Given the description of an element on the screen output the (x, y) to click on. 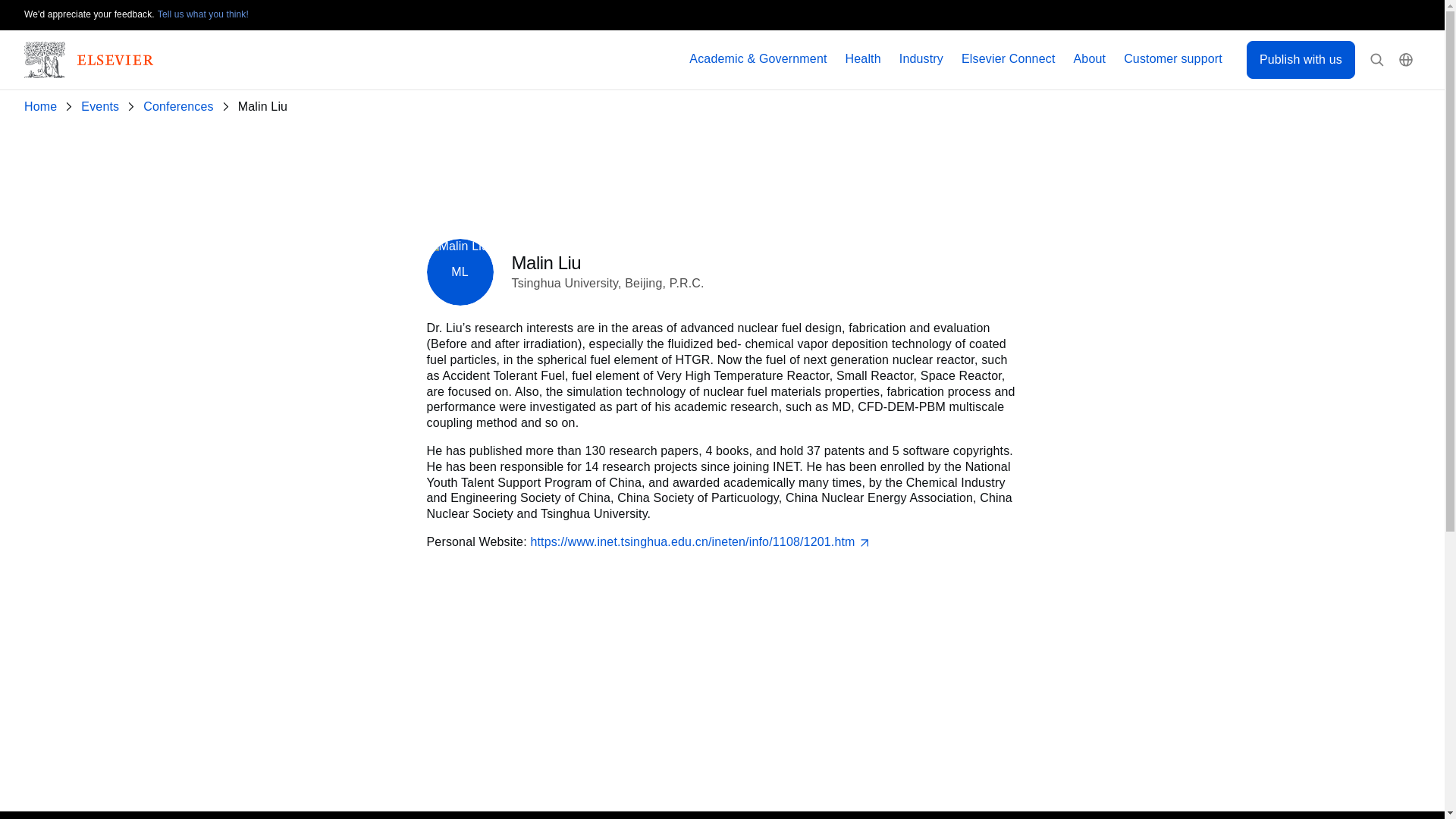
About (1090, 59)
Elsevier Connect (1007, 59)
Events (103, 107)
Industry (921, 59)
Open Search (1376, 59)
Home (43, 107)
Conferences (180, 107)
Customer support (1173, 59)
Publish with us (1300, 59)
Location Selector (1406, 59)
Health (862, 59)
